Given the description of an element on the screen output the (x, y) to click on. 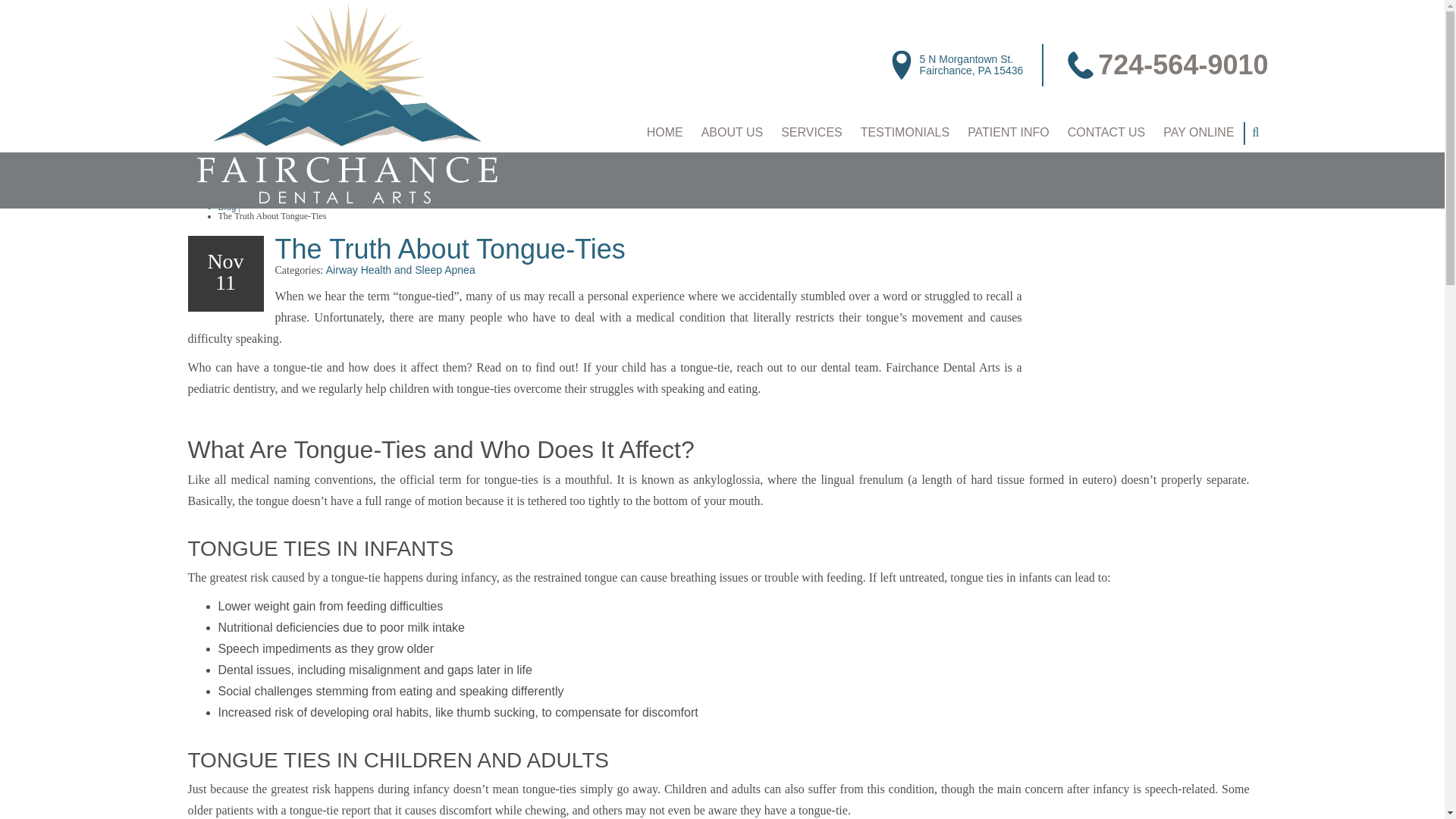
Home (665, 132)
724-564-9010 (1182, 64)
ABOUT US (733, 132)
Fairchance Dental Arts (346, 104)
HOME (971, 64)
SERVICES (665, 132)
